Given the description of an element on the screen output the (x, y) to click on. 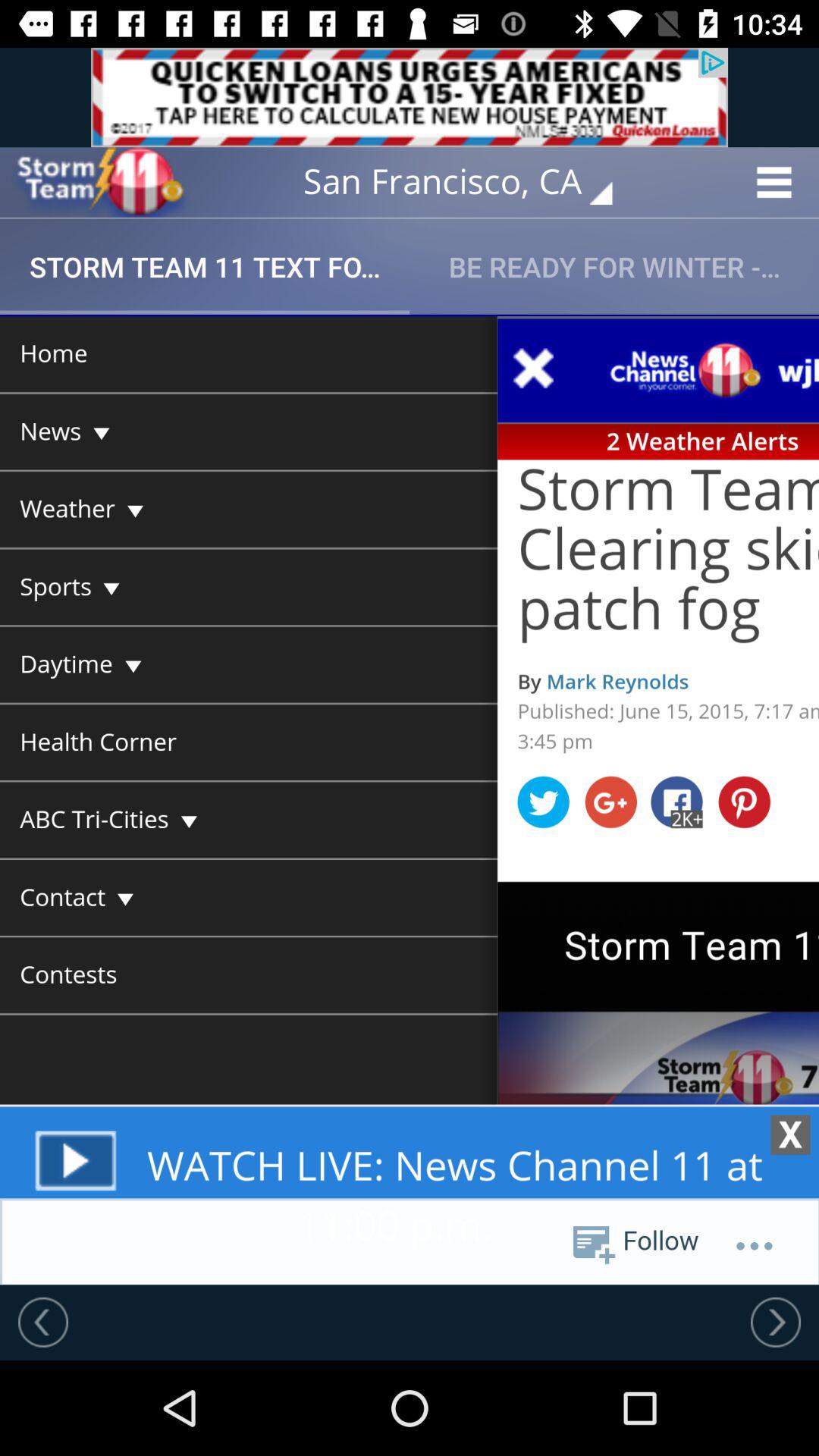
subject menu (409, 799)
